Given the description of an element on the screen output the (x, y) to click on. 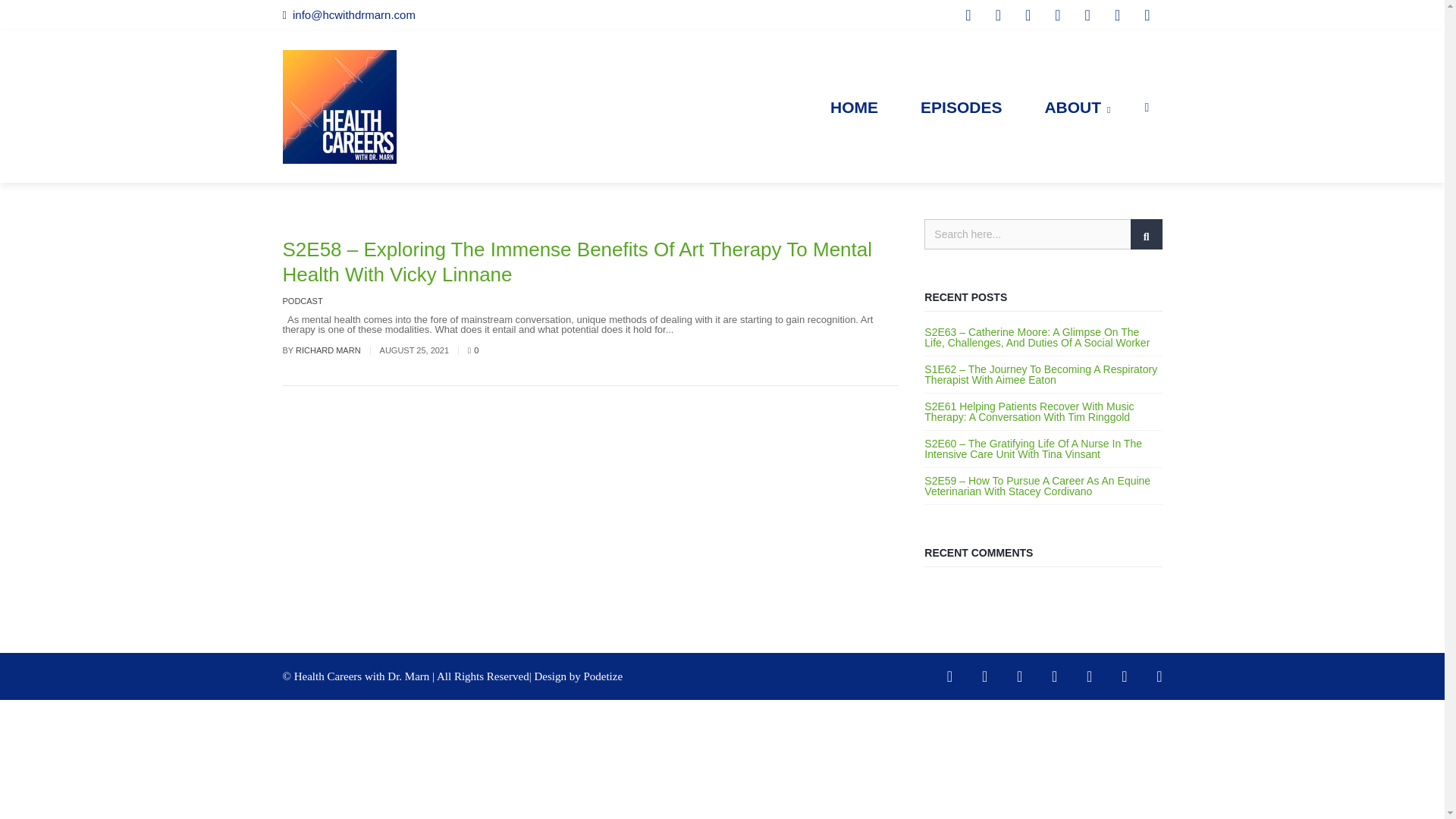
ABOUT (1077, 107)
EPISODES (961, 107)
Podetize (603, 676)
Search here... (1042, 234)
0 (473, 349)
Search here... (1042, 234)
Posts by Richard Marn (328, 349)
PODCAST (301, 300)
Read More (701, 328)
HOME (854, 107)
Health Careers with Dr. Marn (339, 106)
View all posts in Podcast (301, 300)
RICHARD MARN (328, 349)
